Given the description of an element on the screen output the (x, y) to click on. 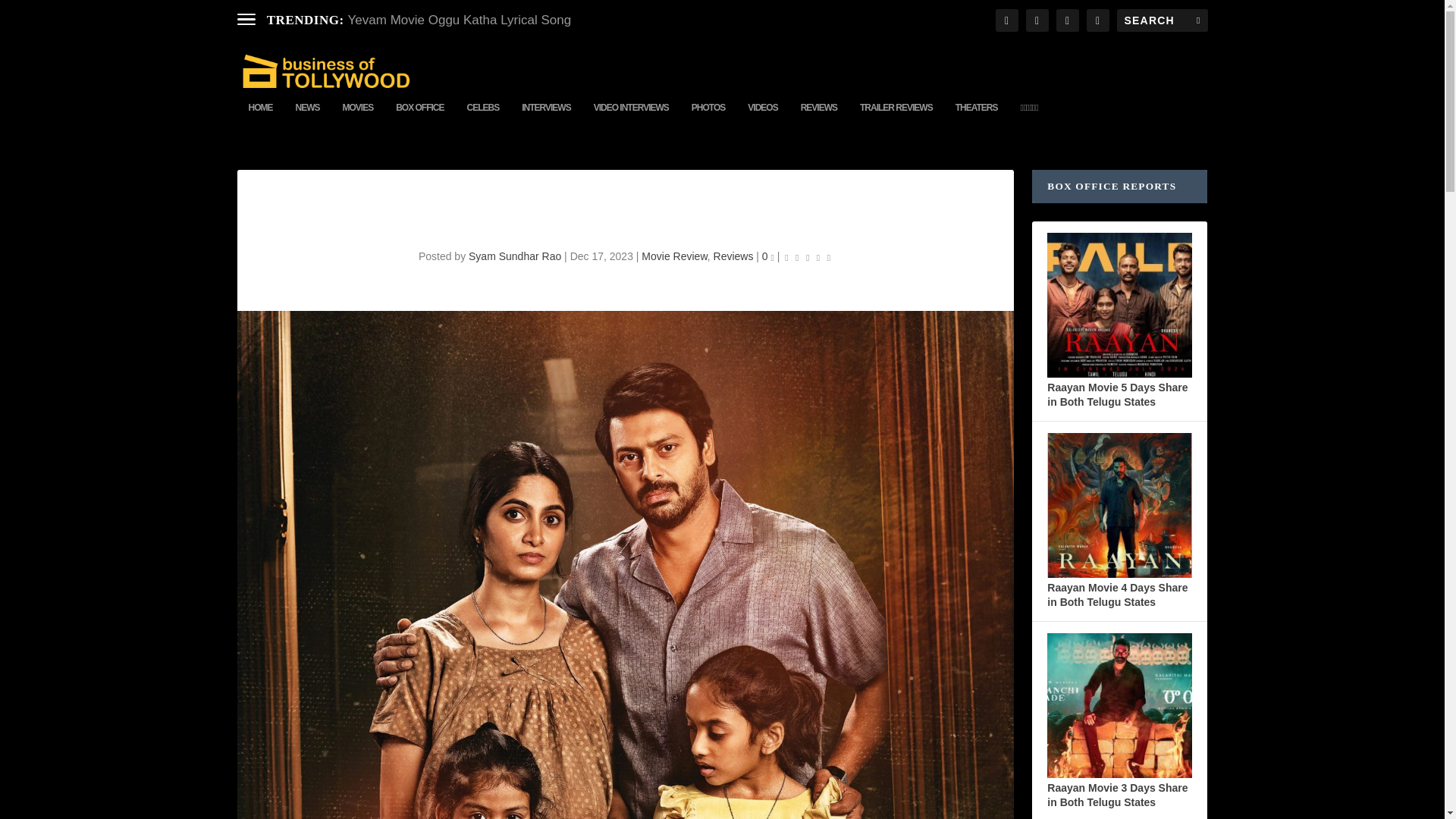
VIDEO INTERVIEWS (631, 120)
BOX OFFICE (420, 120)
Rating: 0.00 (807, 256)
TRAILER REVIEWS (896, 120)
Search for: (1161, 20)
REVIEWS (818, 120)
Yevam Movie Oggu Katha Lyrical Song (459, 20)
THEATERS (976, 120)
INTERVIEWS (545, 120)
Posts by Syam Sundhar Rao (514, 256)
